Given the description of an element on the screen output the (x, y) to click on. 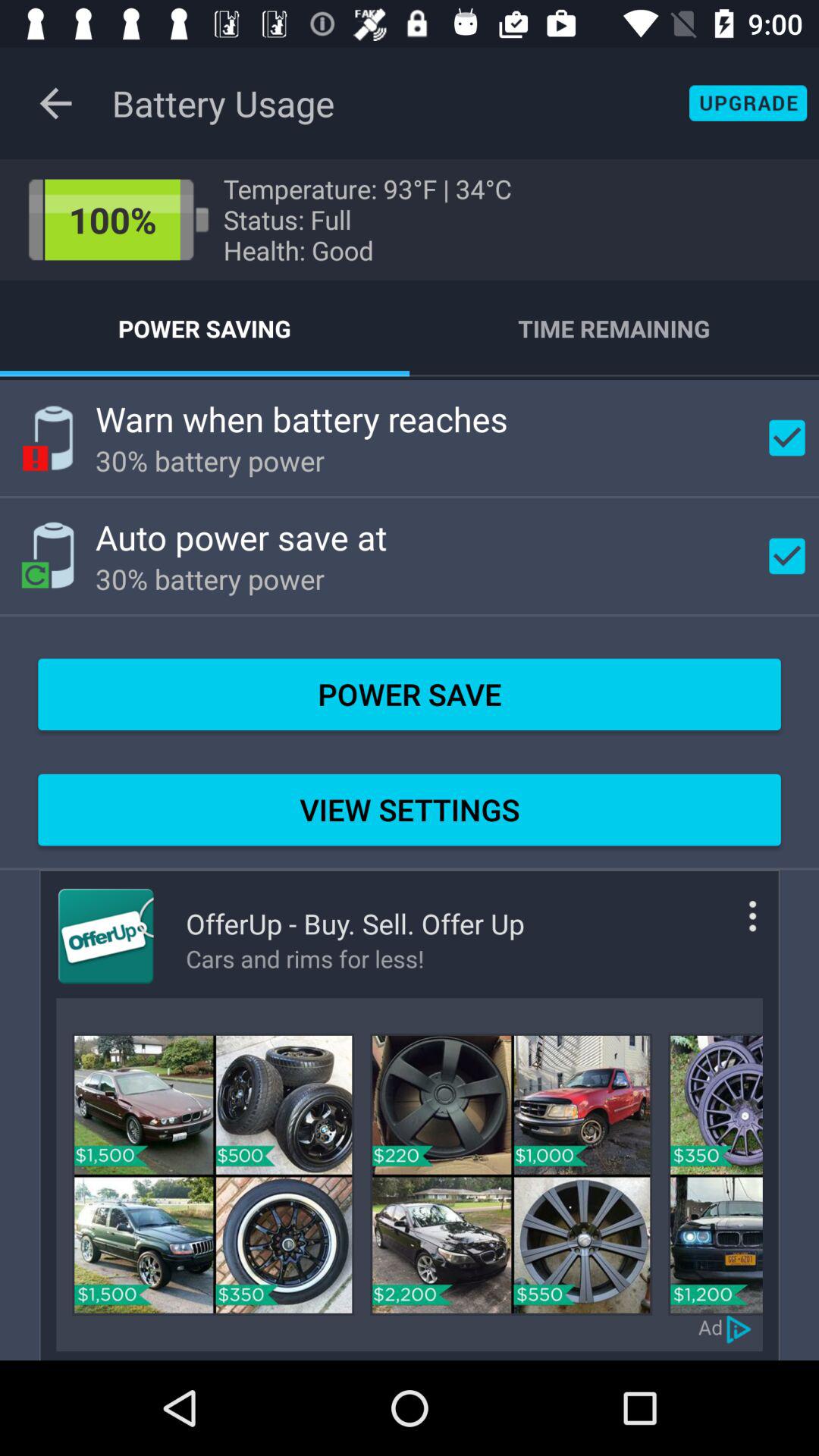
go back (740, 1327)
